Given the description of an element on the screen output the (x, y) to click on. 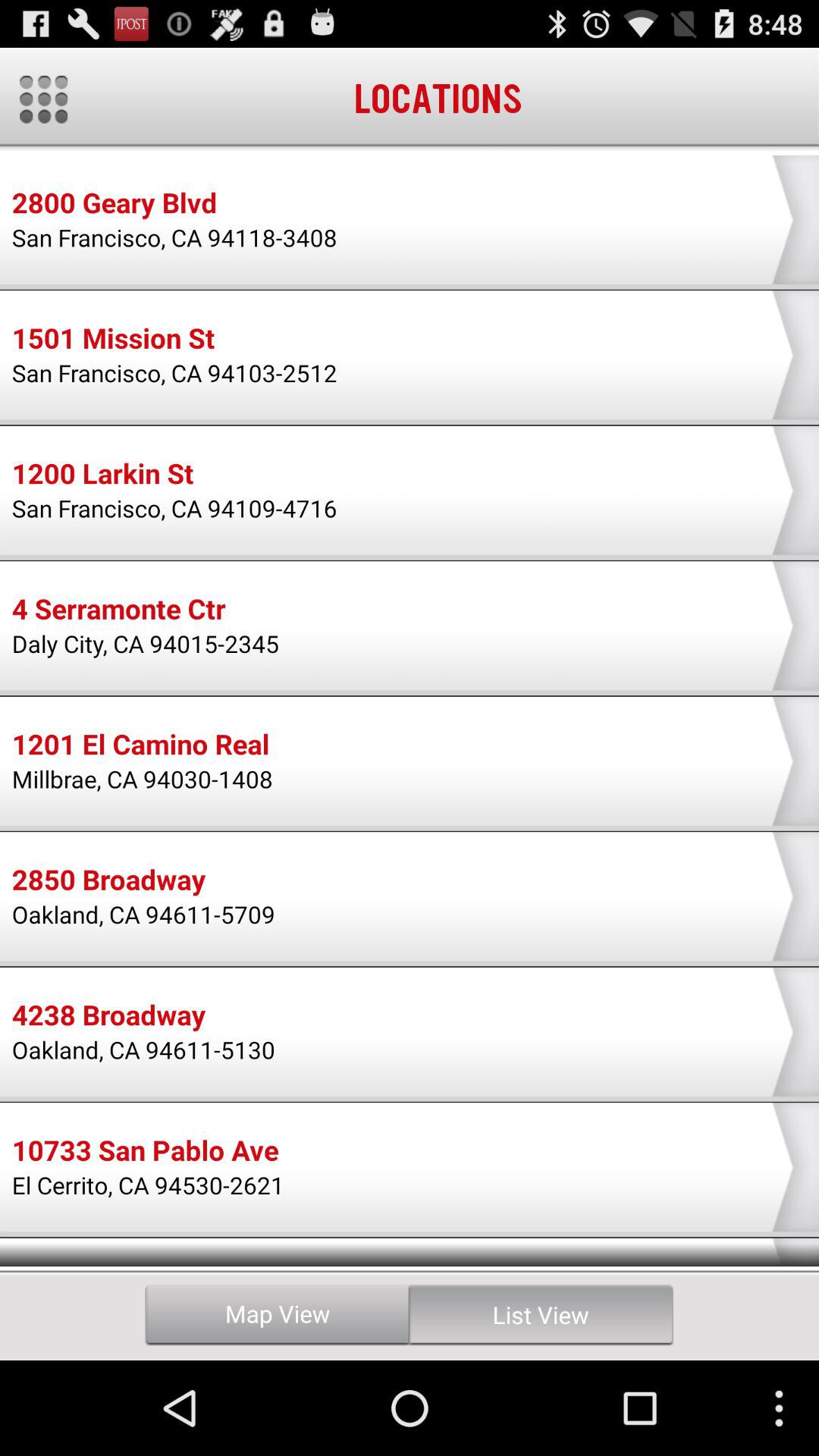
turn off the item above san francisco ca icon (102, 475)
